Given the description of an element on the screen output the (x, y) to click on. 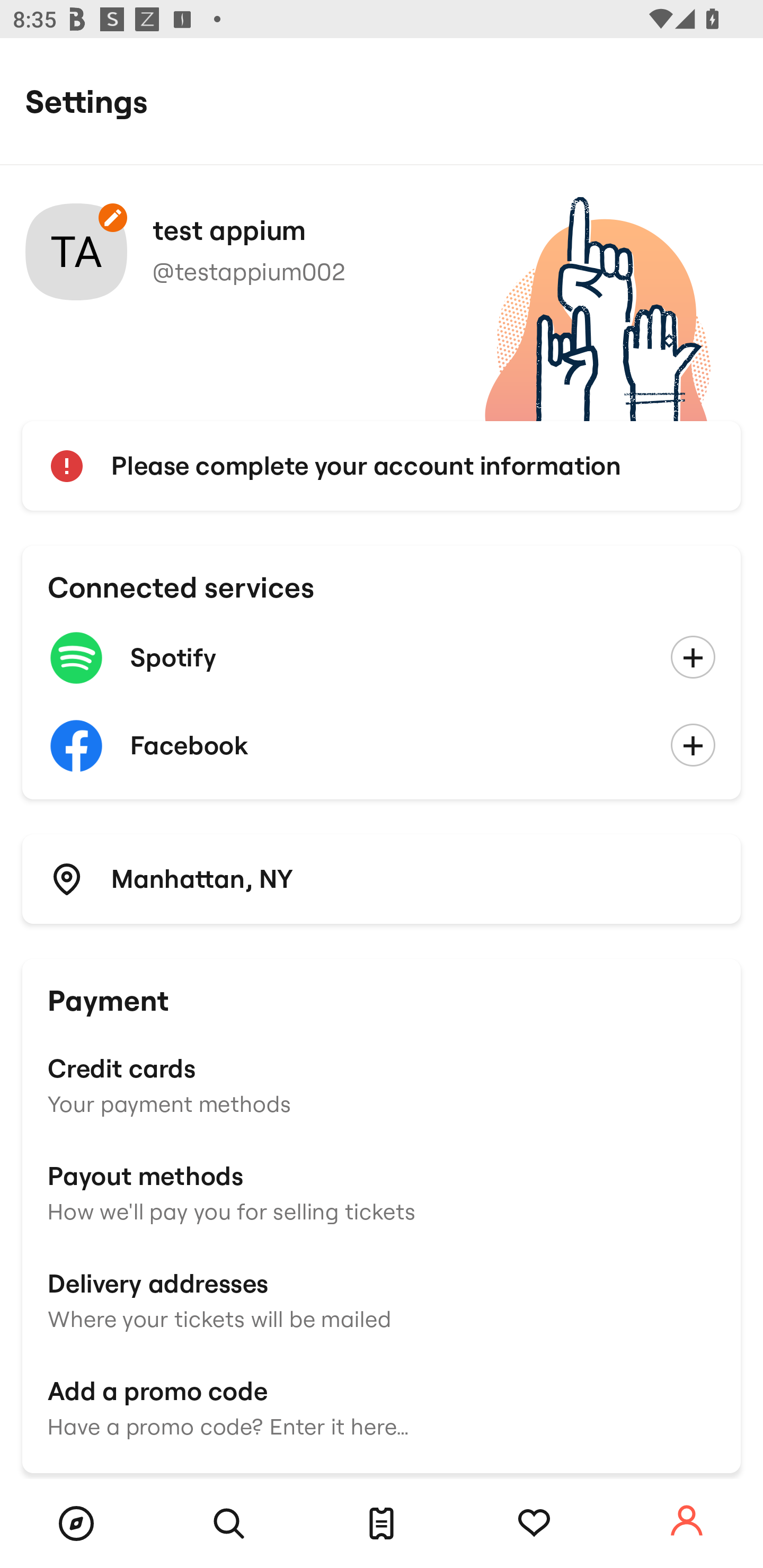
Your account photo (76, 252)
Please complete your account information (381, 466)
Spotify (381, 658)
Facebook (381, 746)
Manhattan, NY (381, 878)
Credit cards Your payment methods (381, 1084)
Add a promo code Have a promo code? Enter it here… (381, 1406)
Browse (76, 1523)
Search (228, 1523)
Tickets (381, 1523)
Tracking (533, 1523)
Account (686, 1521)
